Given the description of an element on the screen output the (x, y) to click on. 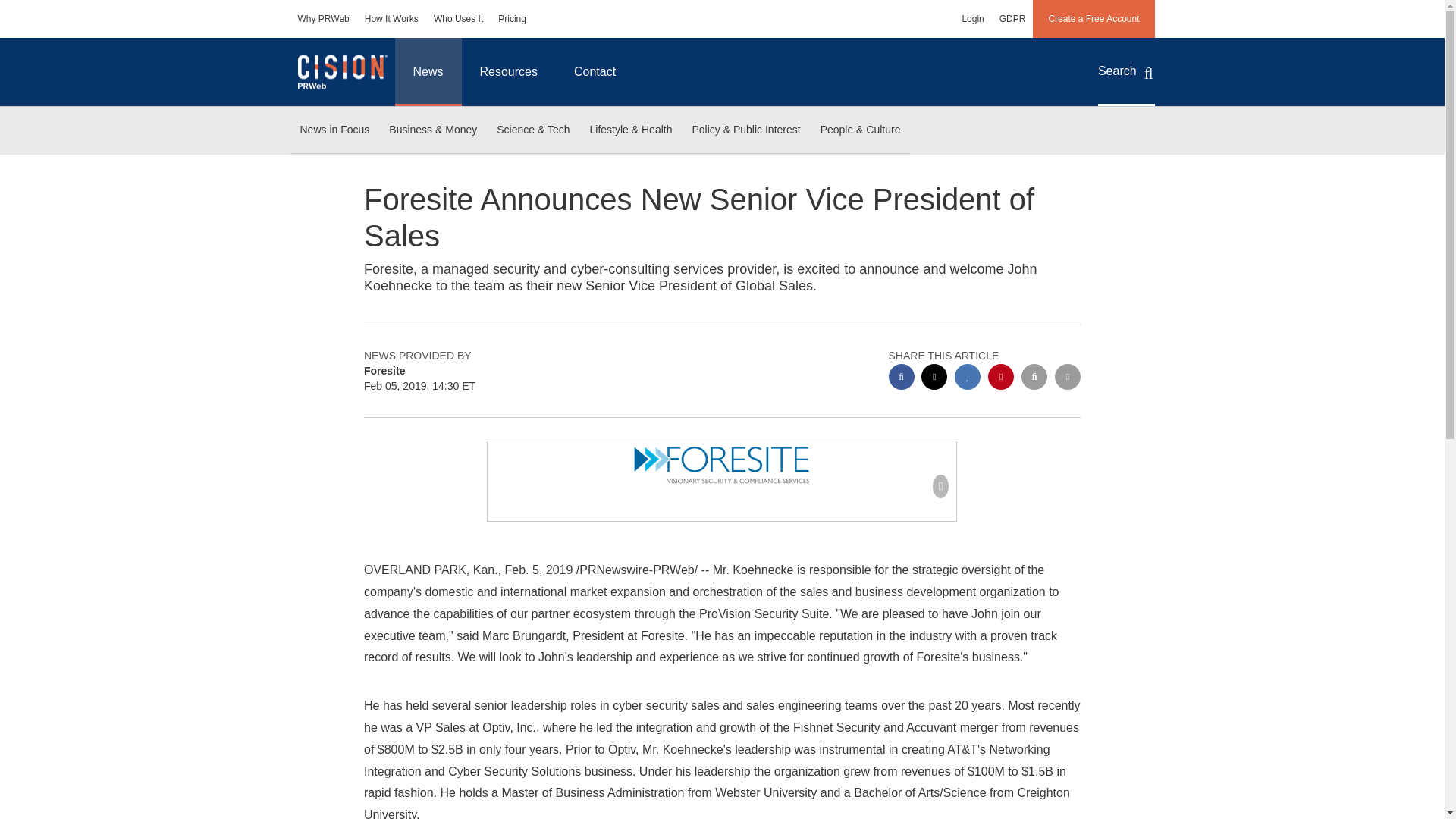
News in Focus (333, 130)
